Given the description of an element on the screen output the (x, y) to click on. 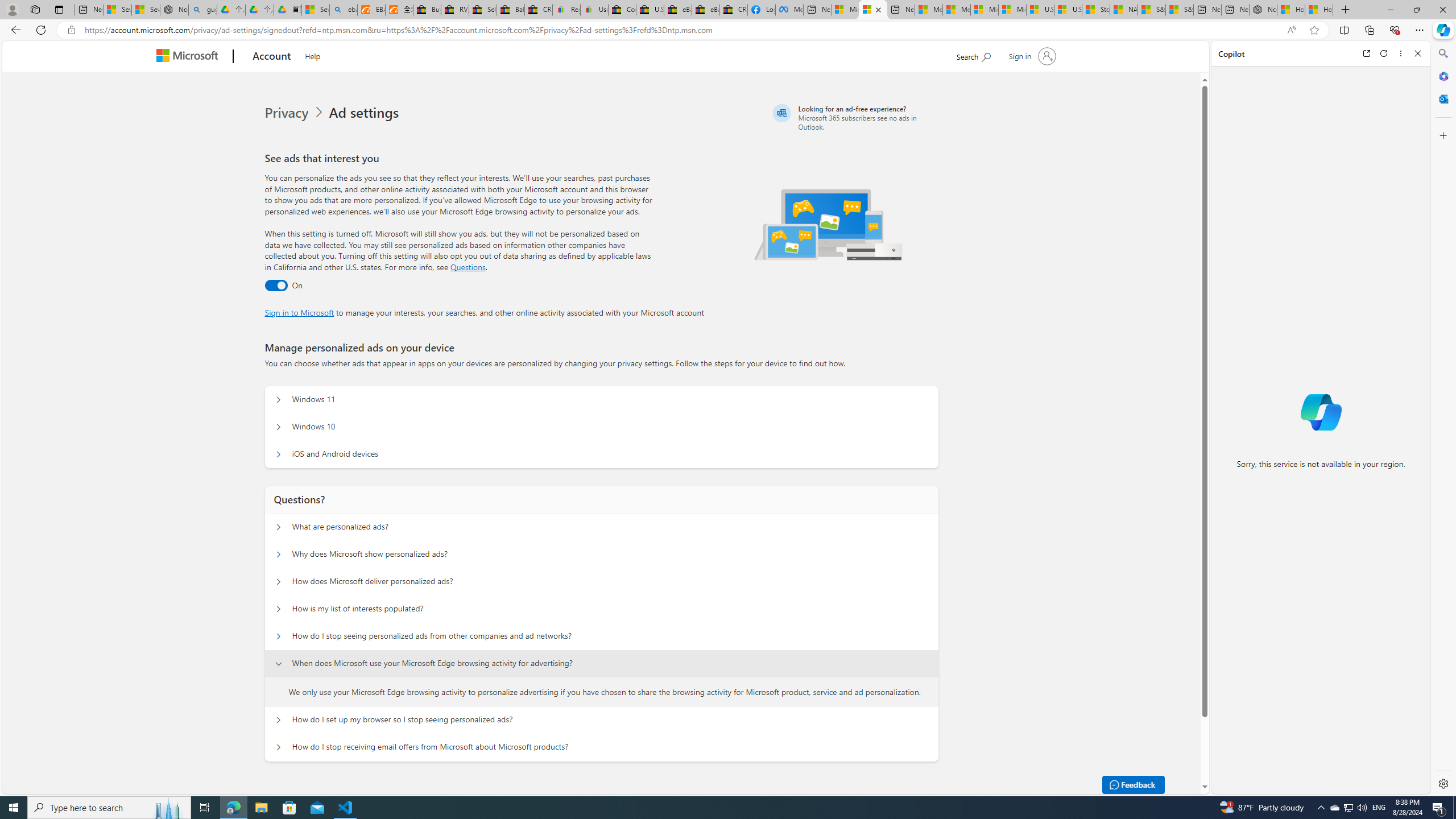
Register: Create a personal eBay account (566, 9)
Side bar (1443, 418)
Open link in new tab (1366, 53)
Questions? What are personalized ads? (278, 526)
Illustration of multiple devices (829, 224)
Questions? Why does Microsoft show personalized ads? (278, 554)
Outlook (1442, 98)
Search Microsoft.com (972, 54)
